Given the description of an element on the screen output the (x, y) to click on. 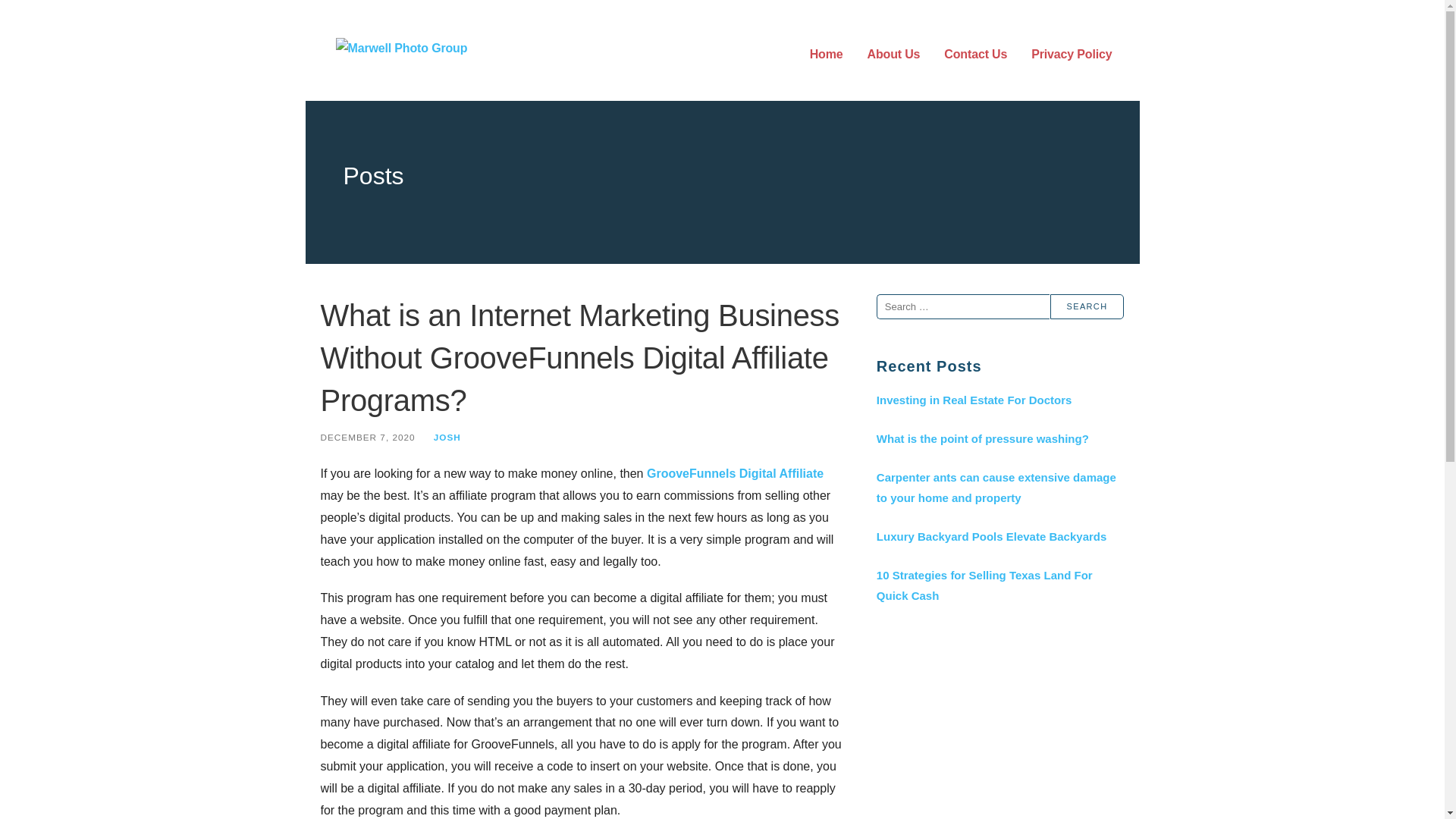
Investing in Real Estate For Doctors (1000, 399)
Luxury Backyard Pools Elevate Backyards (1000, 536)
Search (1086, 306)
Search (1086, 306)
Posts by Josh (447, 437)
Search (1086, 306)
About Us (893, 55)
10 Strategies for Selling Texas Land For Quick Cash (1000, 585)
What is the point of pressure washing? (1000, 438)
